Given the description of an element on the screen output the (x, y) to click on. 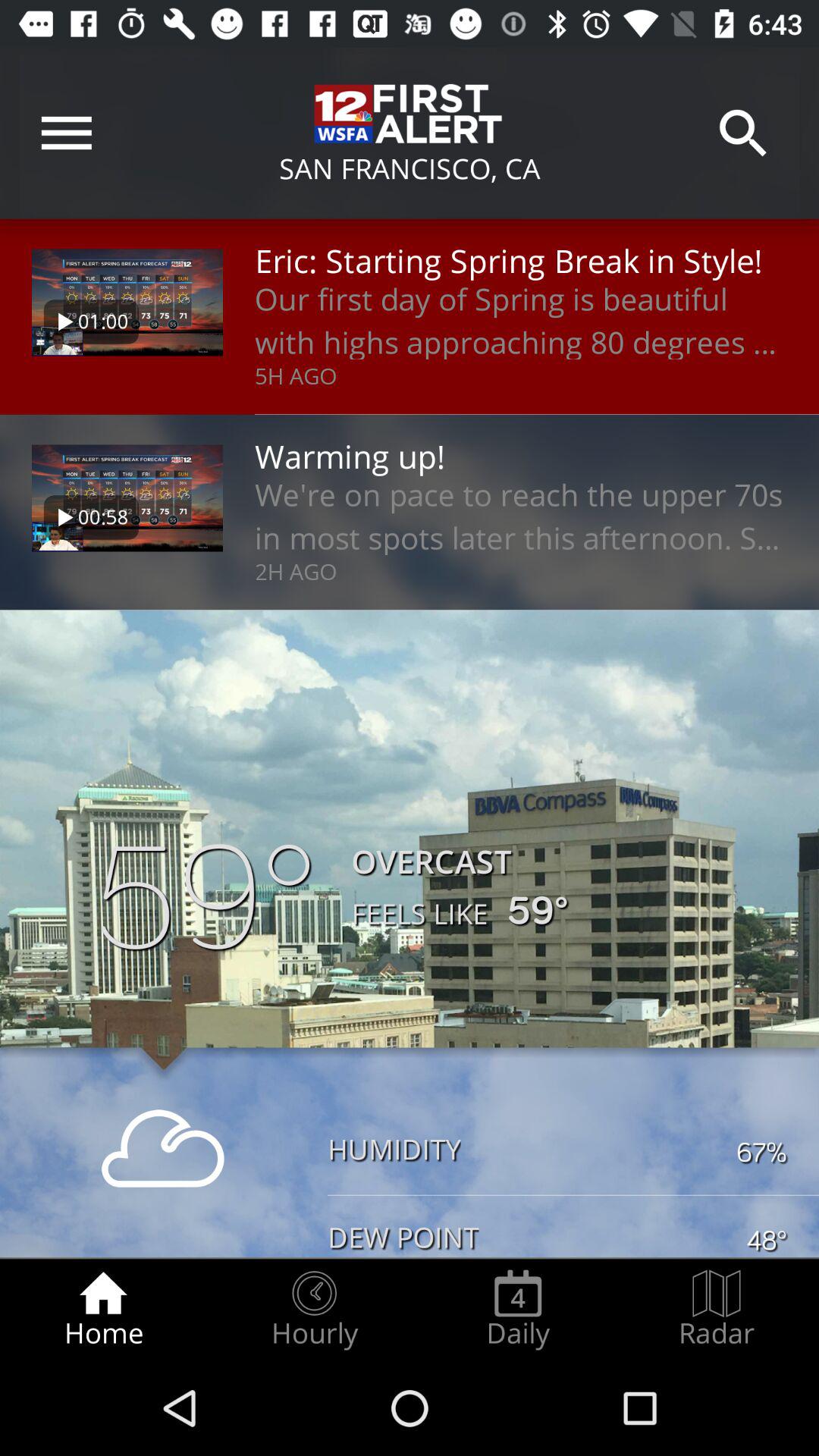
turn off icon next to daily icon (716, 1309)
